Given the description of an element on the screen output the (x, y) to click on. 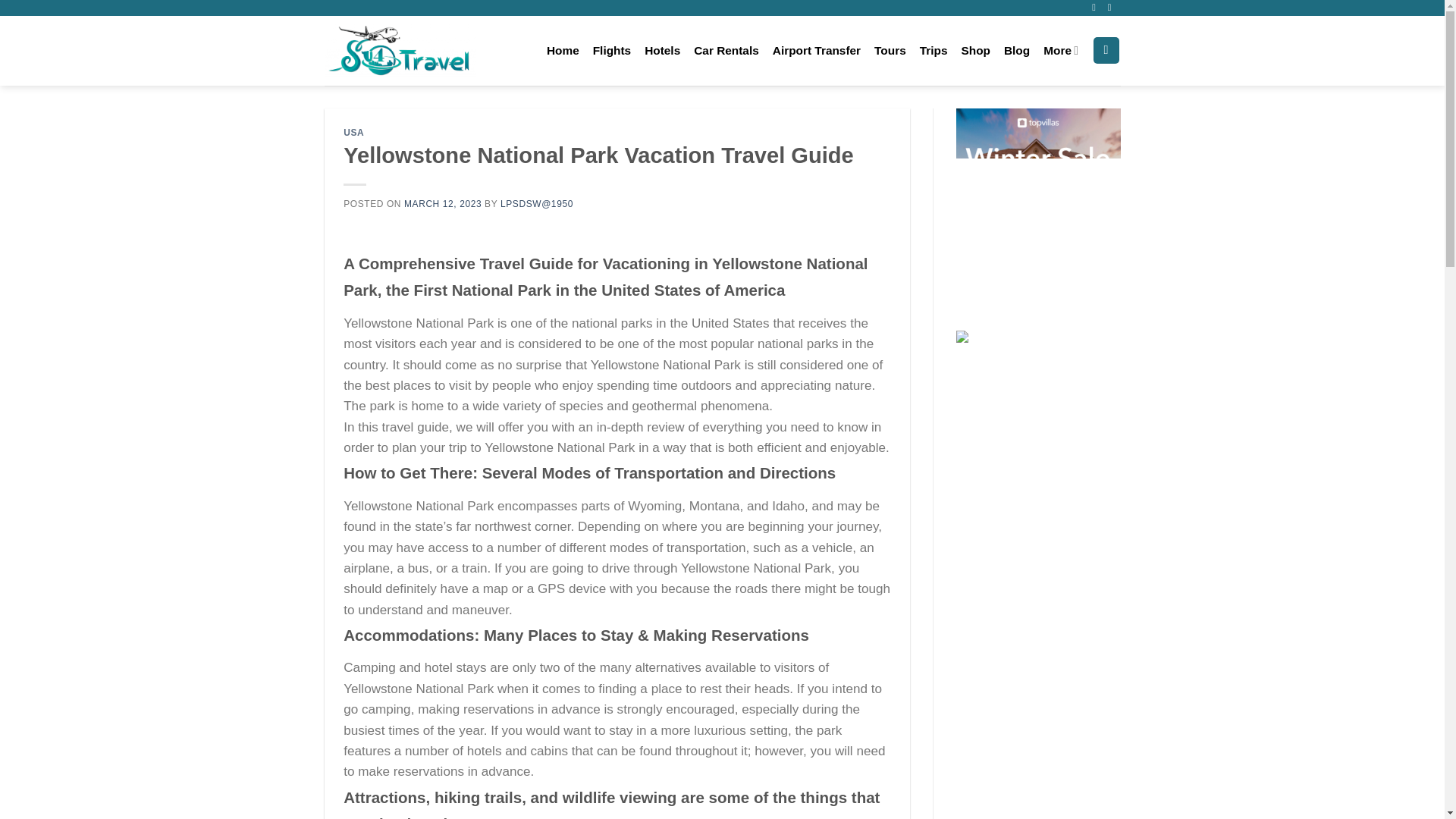
Flights (611, 50)
Tours (890, 50)
Airport Transfer (816, 50)
Hotels (662, 50)
Car Rentals (726, 50)
Su4travel (400, 49)
USA (353, 132)
More (1060, 50)
Blog (1016, 50)
Trips (933, 50)
